Given the description of an element on the screen output the (x, y) to click on. 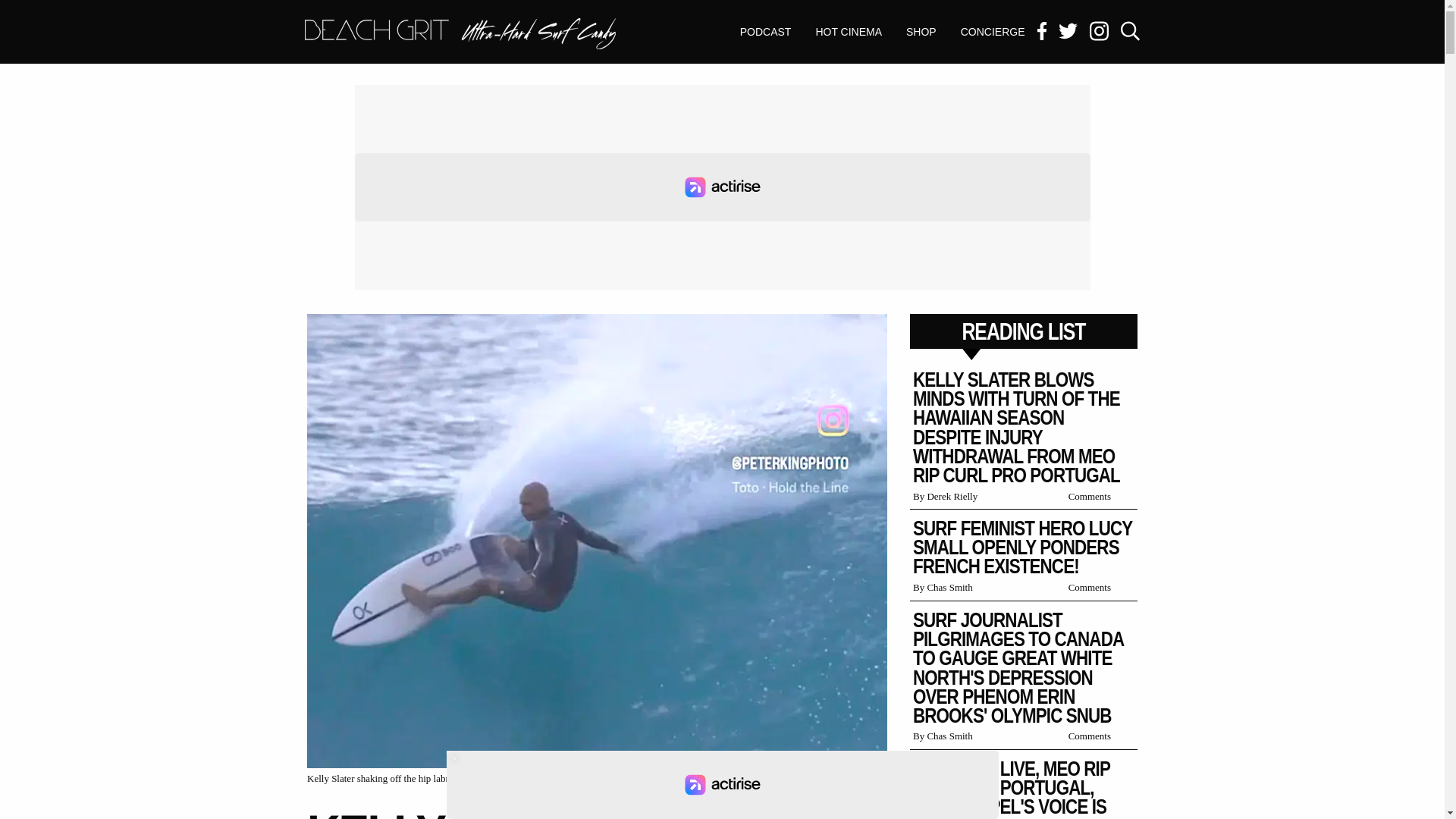
SHOP (921, 31)
PODCAST (765, 31)
blank (722, 187)
blank (459, 34)
CONCIERGE (721, 785)
BG-LOGO (992, 31)
HOT CINEMA (459, 33)
